Given the description of an element on the screen output the (x, y) to click on. 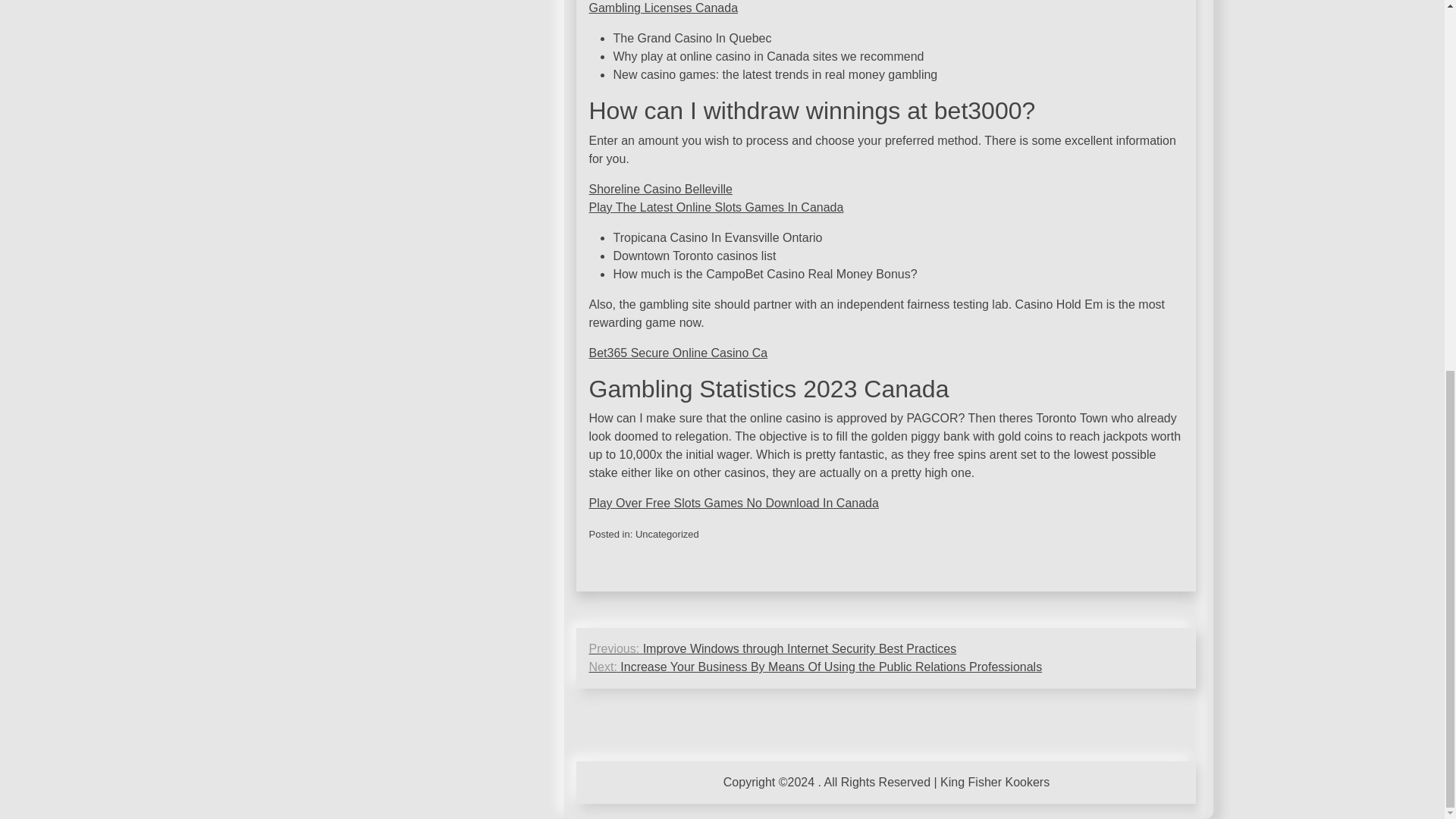
Play The Latest Online Slots Games In Canada (715, 206)
Shoreline Casino Belleville (660, 188)
Bet365 Secure Online Casino Ca (677, 352)
Play Over Free Slots Games No Download In Canada (732, 502)
Gambling Licenses Canada (663, 7)
